Given the description of an element on the screen output the (x, y) to click on. 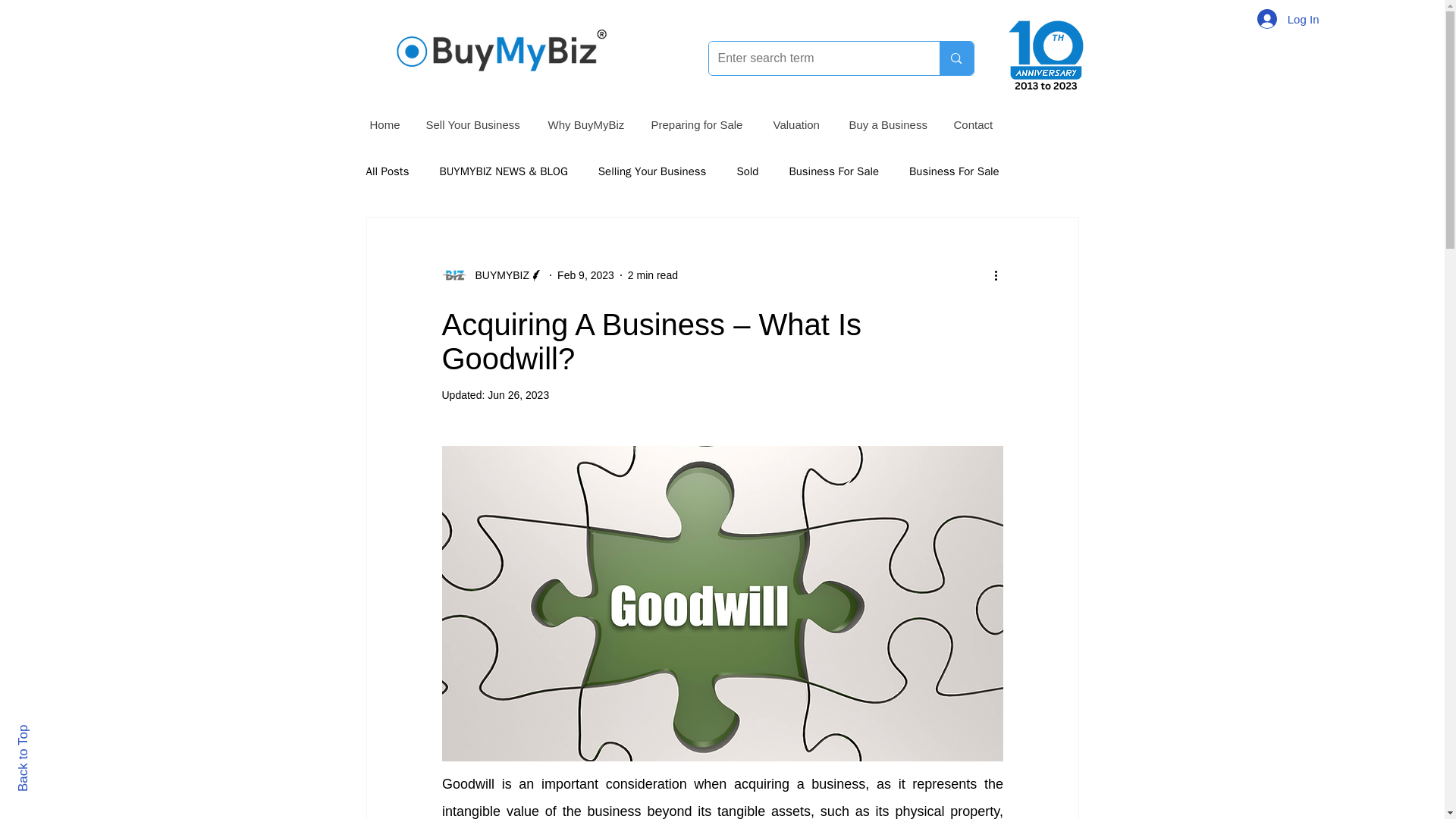
Buy a Business (889, 124)
Sold (747, 170)
Preparing for Sale (699, 124)
Home (385, 124)
Valuation (799, 124)
Why BuyMyBiz (587, 124)
All Posts (387, 170)
Feb 9, 2023 (585, 274)
Log In (1288, 18)
Sell Your Business (474, 124)
Selling Your Business (652, 170)
2 min read (652, 274)
BUYMYBIZ (497, 274)
Contact (975, 124)
Business For Sale (834, 170)
